Given the description of an element on the screen output the (x, y) to click on. 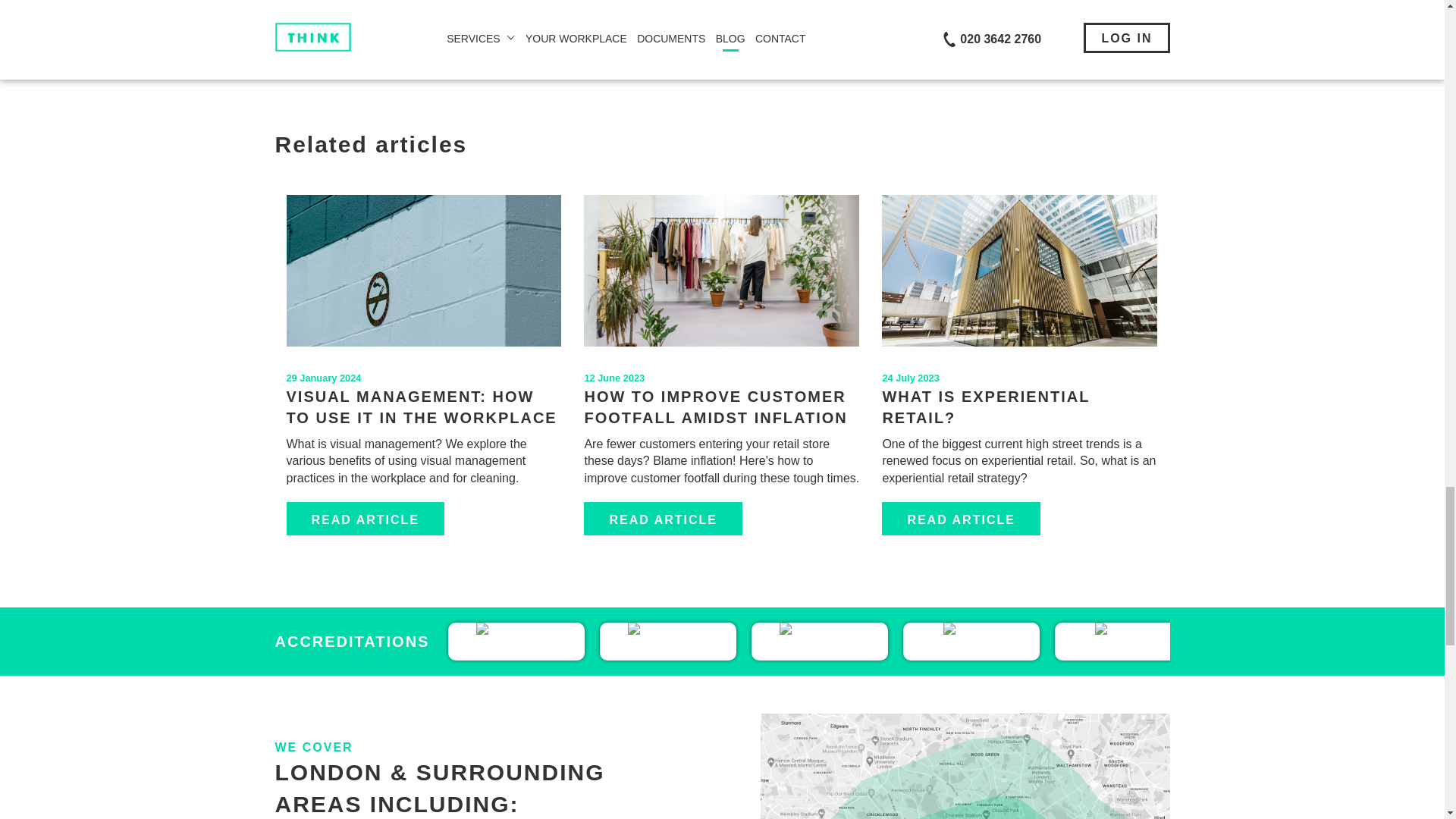
READ ARTICLE (662, 518)
share this article (332, 40)
READ ARTICLE (365, 518)
contact us (775, 5)
READ ARTICLE (961, 518)
